Given the description of an element on the screen output the (x, y) to click on. 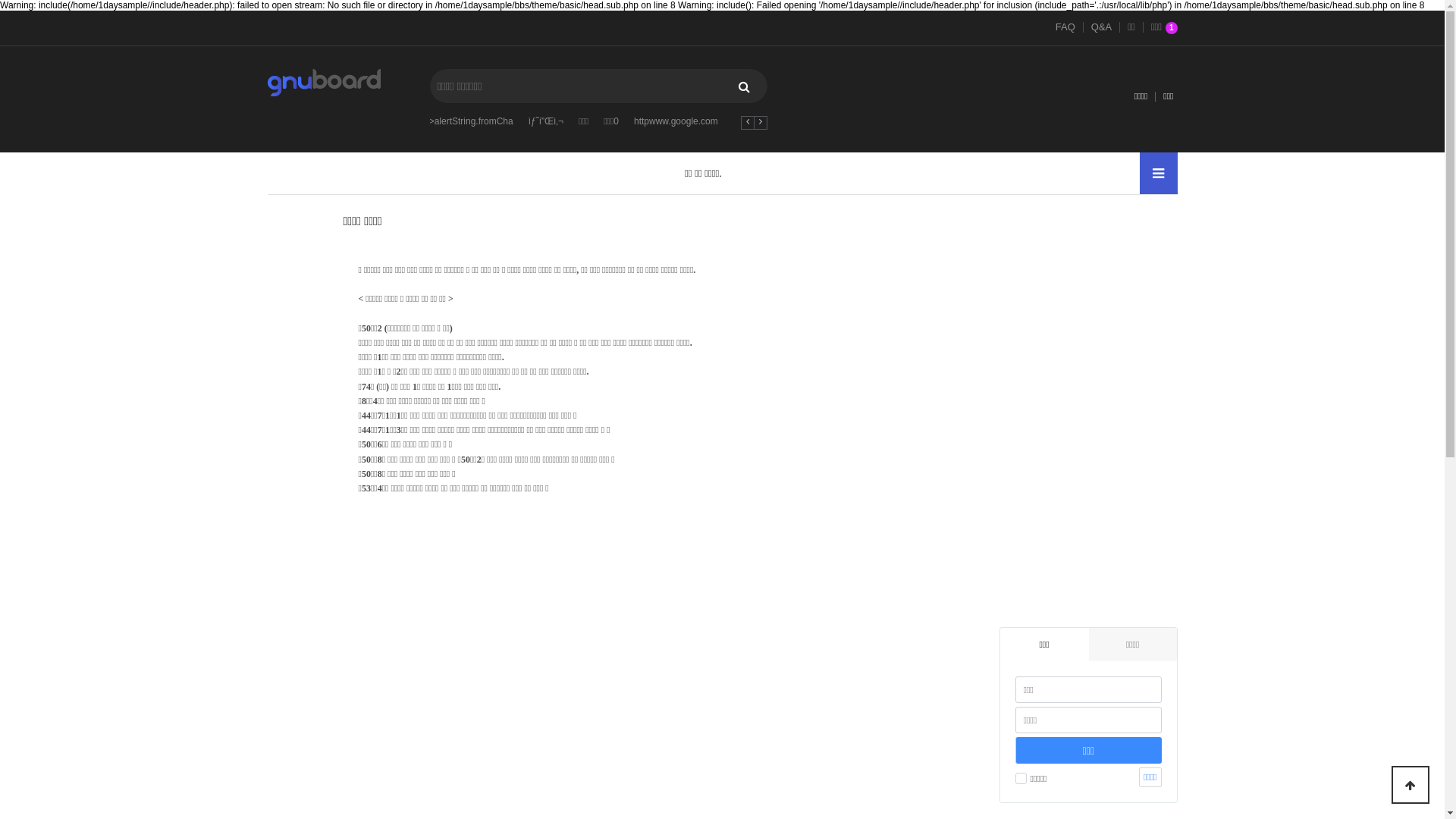
httpwww.google.com Element type: text (675, 121)
FAQ Element type: text (1065, 26)
Q&A Element type: text (1101, 26)
>alertString.fromCha Element type: text (471, 121)
